Given the description of an element on the screen output the (x, y) to click on. 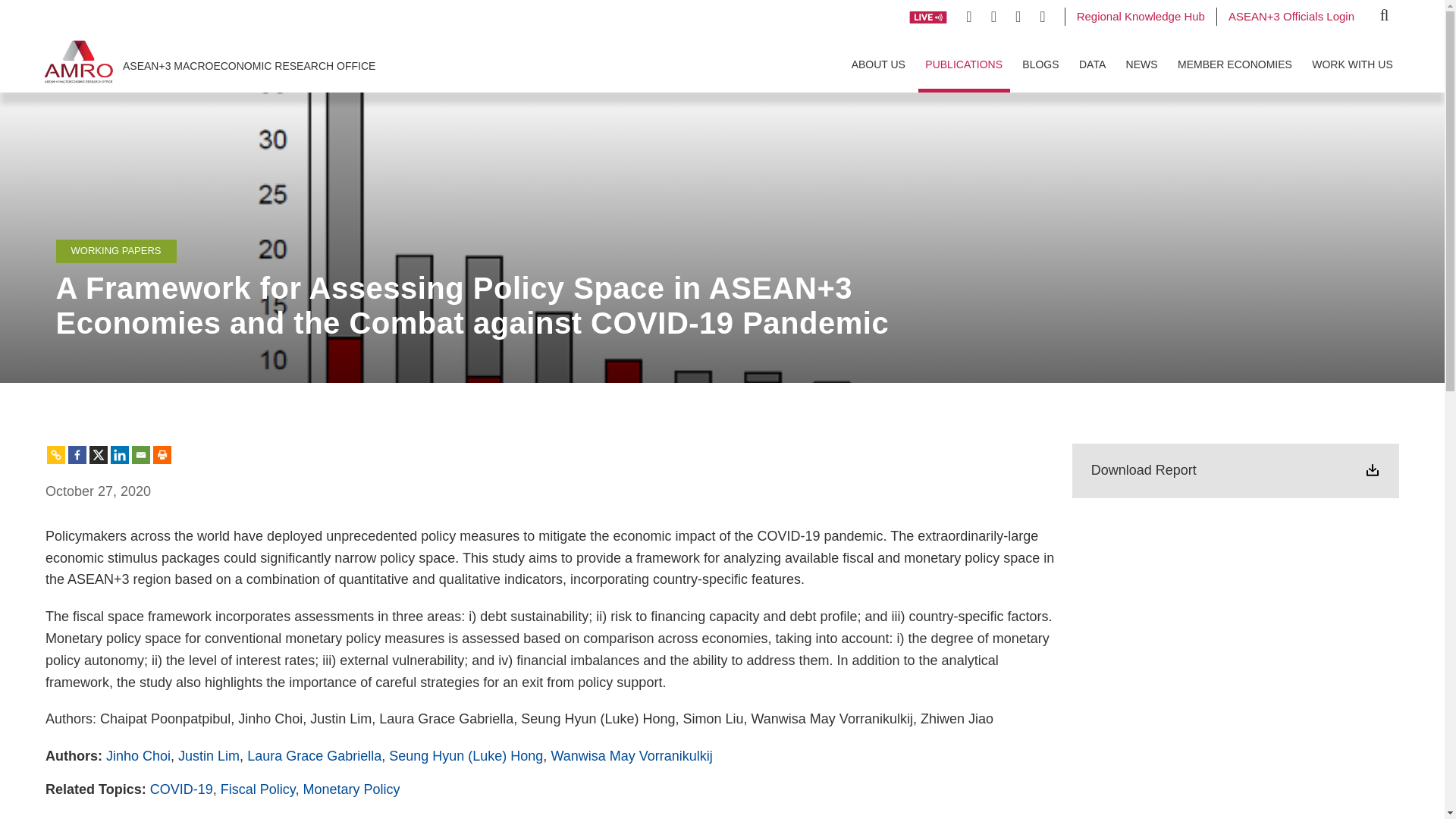
Regional Knowledge Hub (1141, 15)
Linkedin (119, 454)
Print (161, 454)
Email (140, 454)
Facebook (76, 454)
BLOGS (1039, 62)
ABOUT US (878, 62)
Copy Link (55, 454)
PUBLICATIONS (964, 62)
X (97, 454)
